Given the description of an element on the screen output the (x, y) to click on. 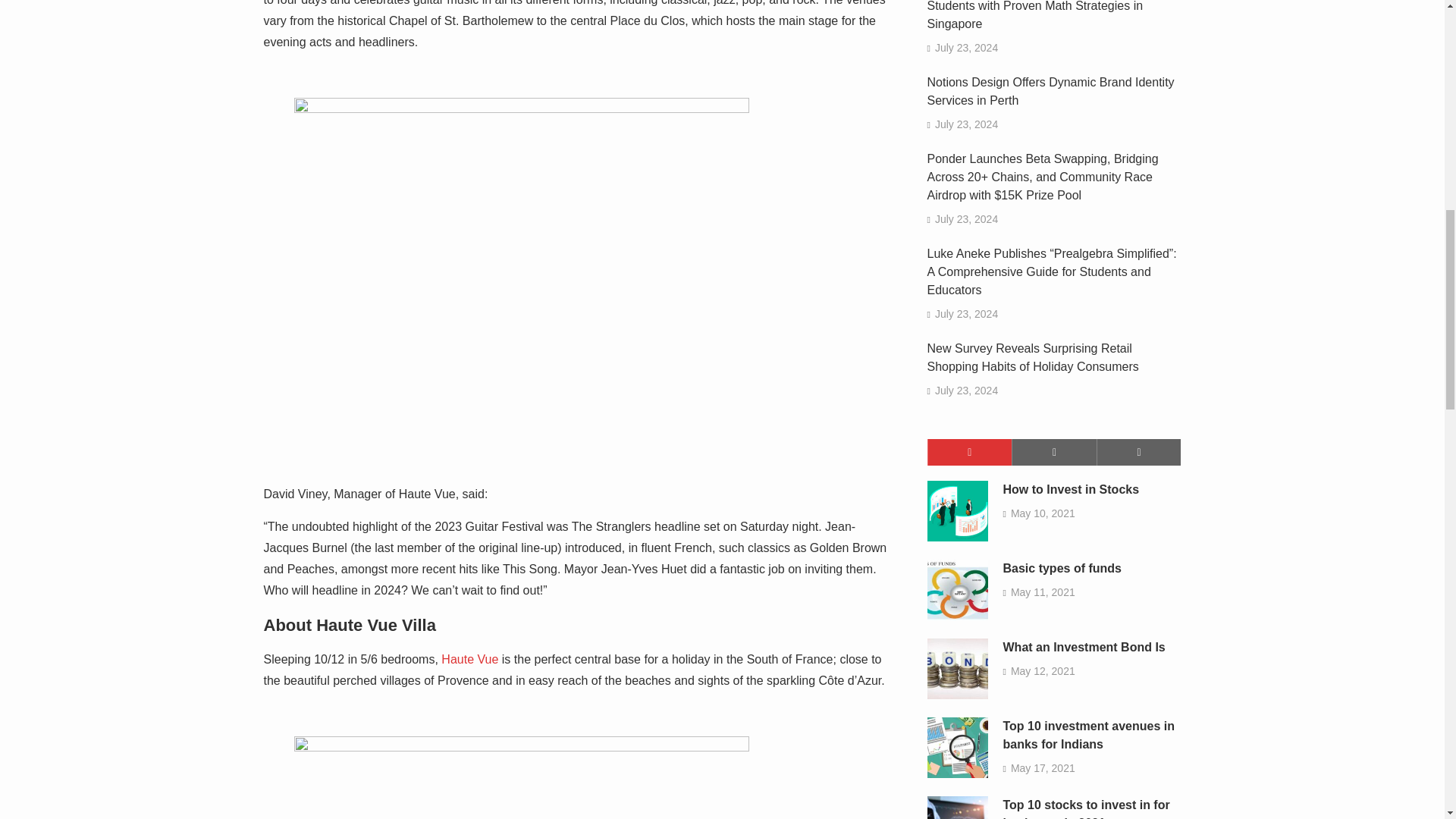
Haute Vue (469, 658)
